Given the description of an element on the screen output the (x, y) to click on. 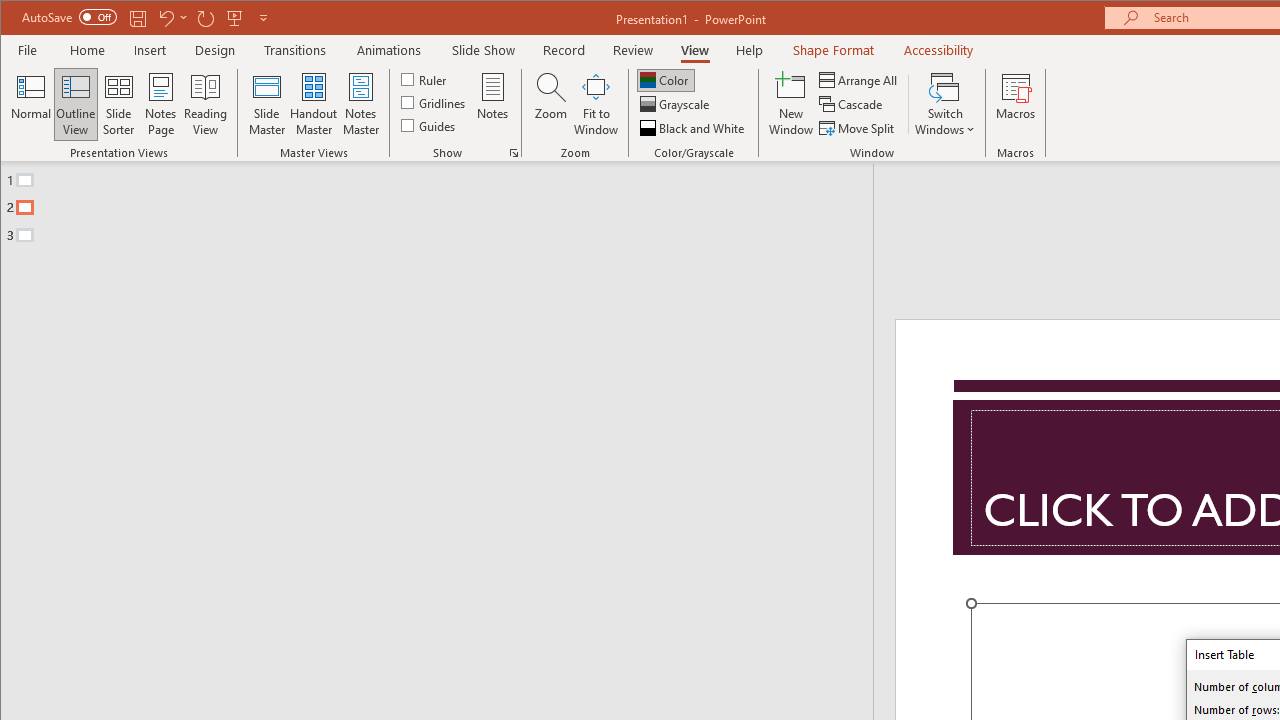
Arrange All (859, 80)
Handout Master (314, 104)
Guides (430, 124)
Black and White (694, 127)
Outline (445, 203)
Gridlines (435, 101)
